Given the description of an element on the screen output the (x, y) to click on. 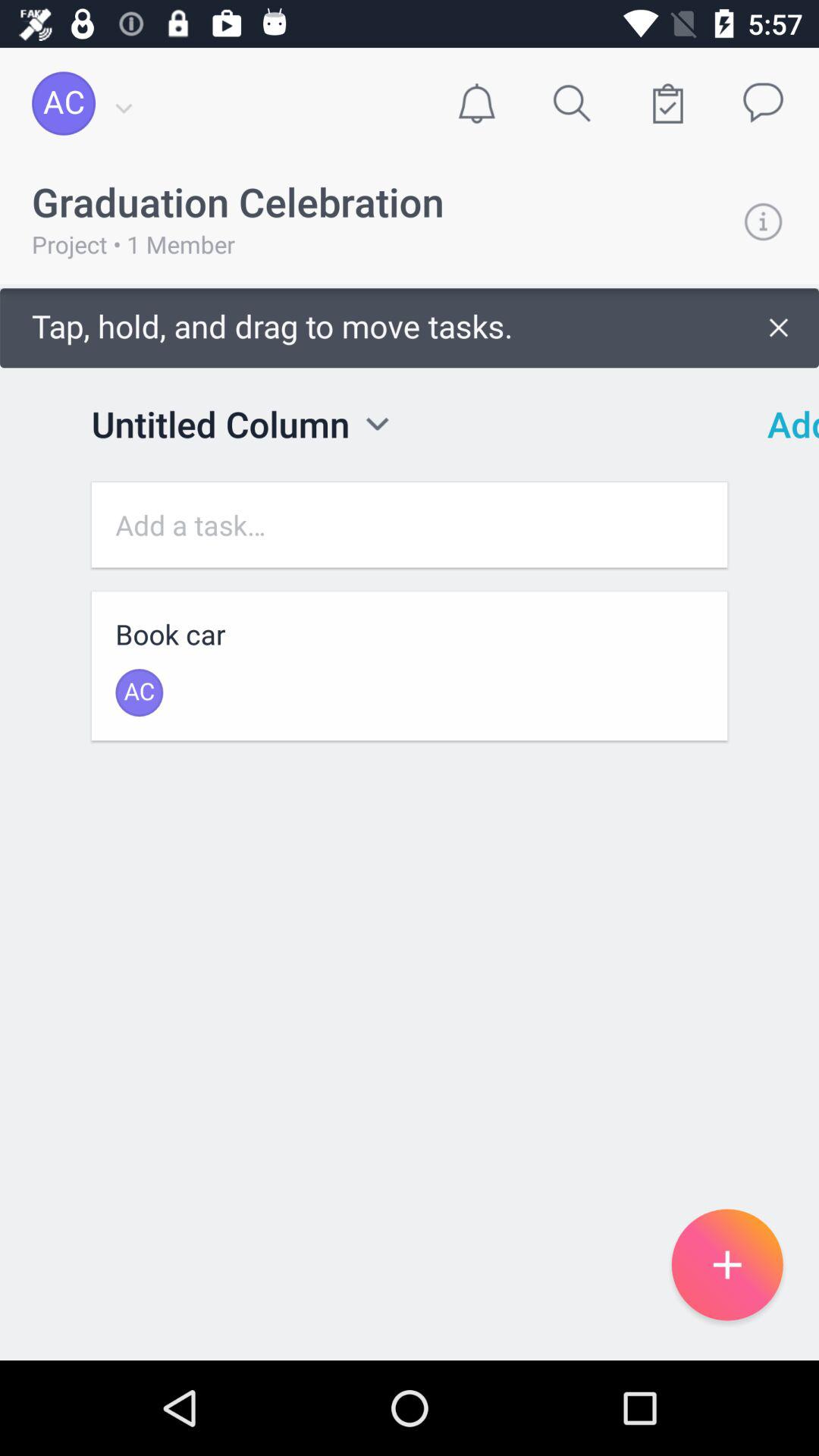
click icon to the right of the tap hold and (783, 423)
